Given the description of an element on the screen output the (x, y) to click on. 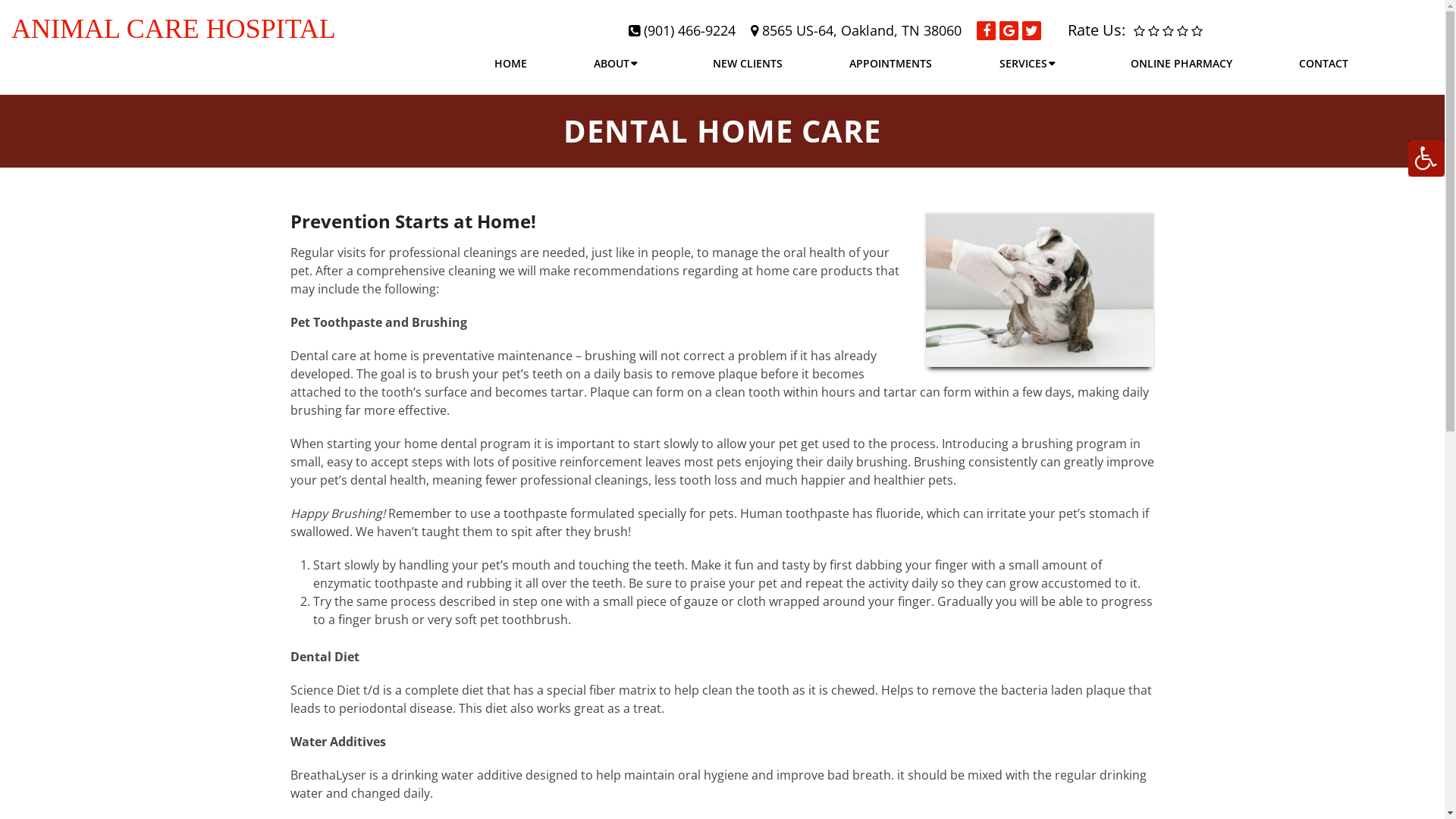
CONTACT Element type: text (1323, 63)
NEW CLIENTS Element type: text (747, 63)
APPOINTMENTS Element type: text (890, 63)
ABOUT Element type: text (619, 63)
(901) 466-9224 Element type: text (689, 30)
ANIMAL CARE HOSPITAL Element type: text (173, 28)
8565 US-64, Oakland, TN 38060 Element type: text (861, 30)
ONLINE PHARMACY Element type: text (1181, 63)
SERVICES Element type: text (1031, 63)
Accessibility Helper sidebar Element type: hover (1426, 158)
HOME Element type: text (510, 63)
